Given the description of an element on the screen output the (x, y) to click on. 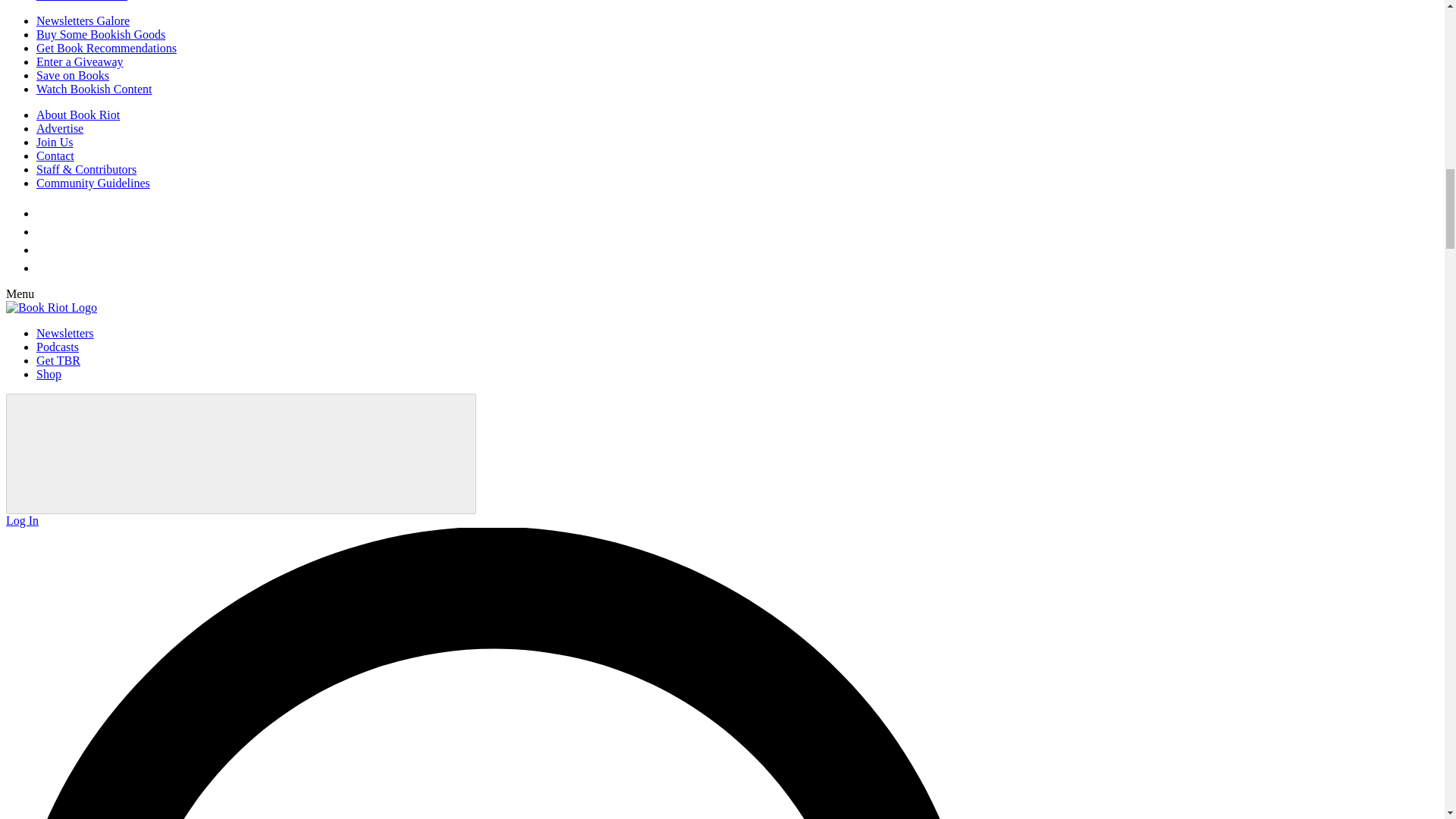
Join Us (54, 141)
Buy Some Bookish Goods (100, 33)
About Book Riot (77, 114)
Get TBR (58, 359)
Shop (48, 373)
Enter a Giveaway (79, 61)
Community Guidelines (92, 182)
Get Book Recommendations (106, 47)
Newsletters (65, 332)
Contact (55, 155)
